Given the description of an element on the screen output the (x, y) to click on. 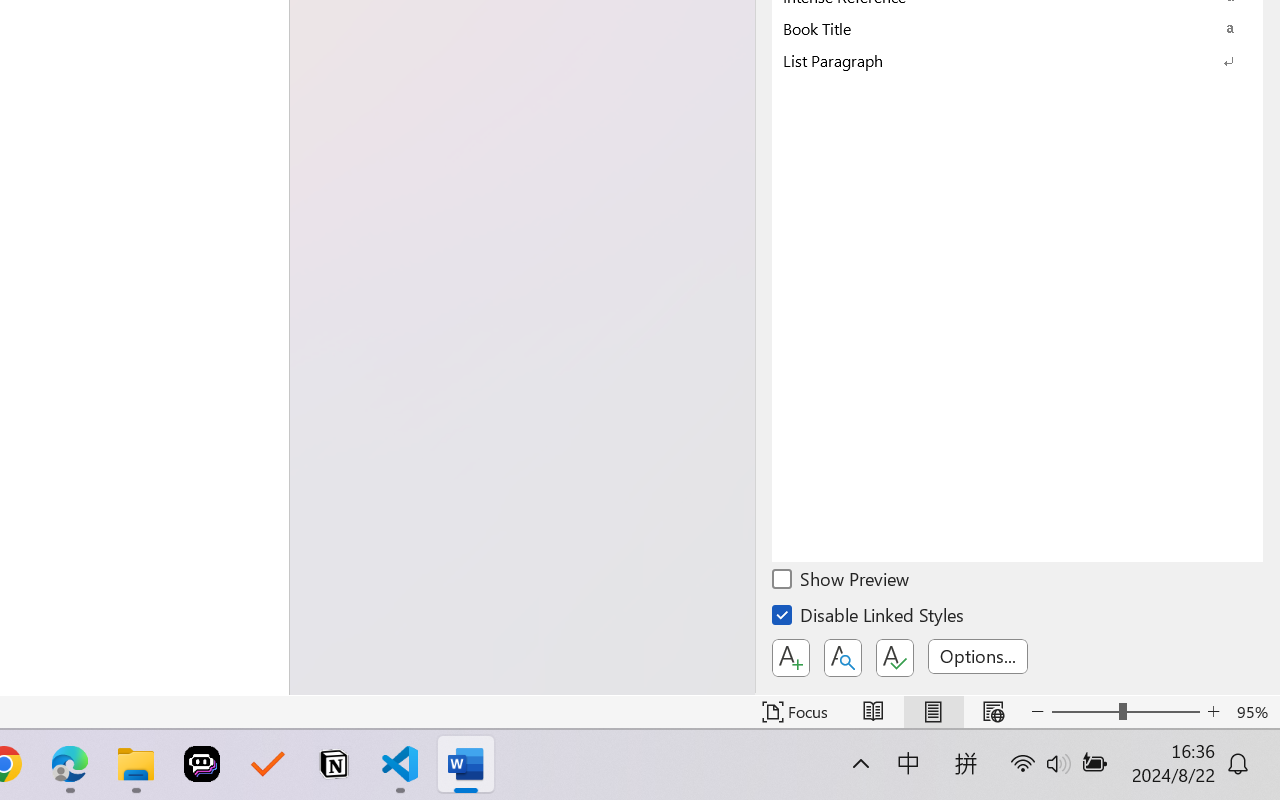
List Paragraph (1017, 60)
Options... (977, 656)
Disable Linked Styles (869, 618)
Show Preview (841, 582)
Book Title (1017, 28)
Zoom 95% (1253, 712)
Class: NetUIButton (894, 657)
